Given the description of an element on the screen output the (x, y) to click on. 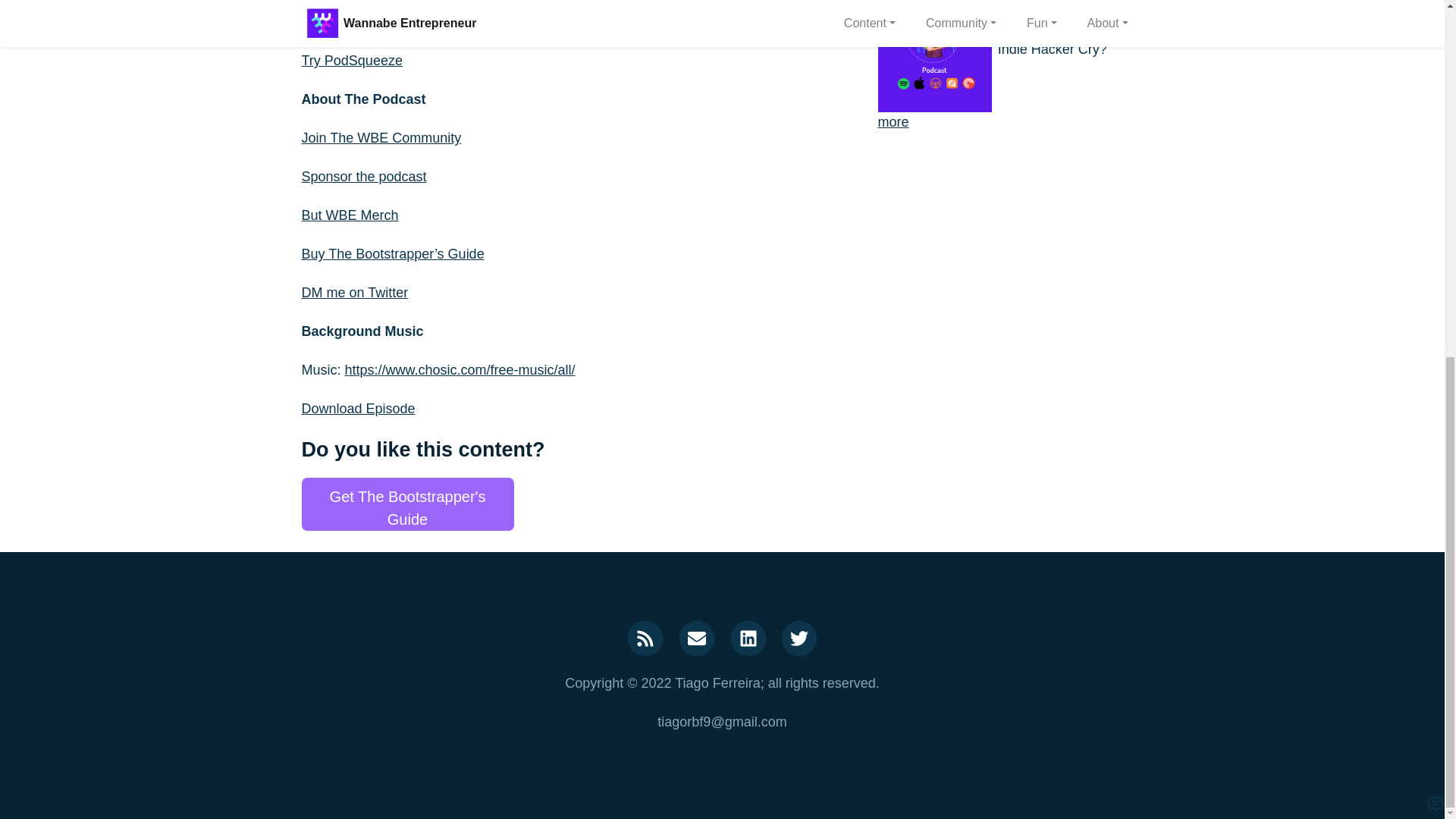
Download Episode (357, 408)
Get The Bootstrapper's Guide (407, 503)
Sponsor the podcast (363, 176)
Join The WBE Community (381, 137)
But WBE Merch (349, 215)
more (892, 121)
DM me on Twitter (355, 292)
Try PodSqueeze (352, 60)
